Given the description of an element on the screen output the (x, y) to click on. 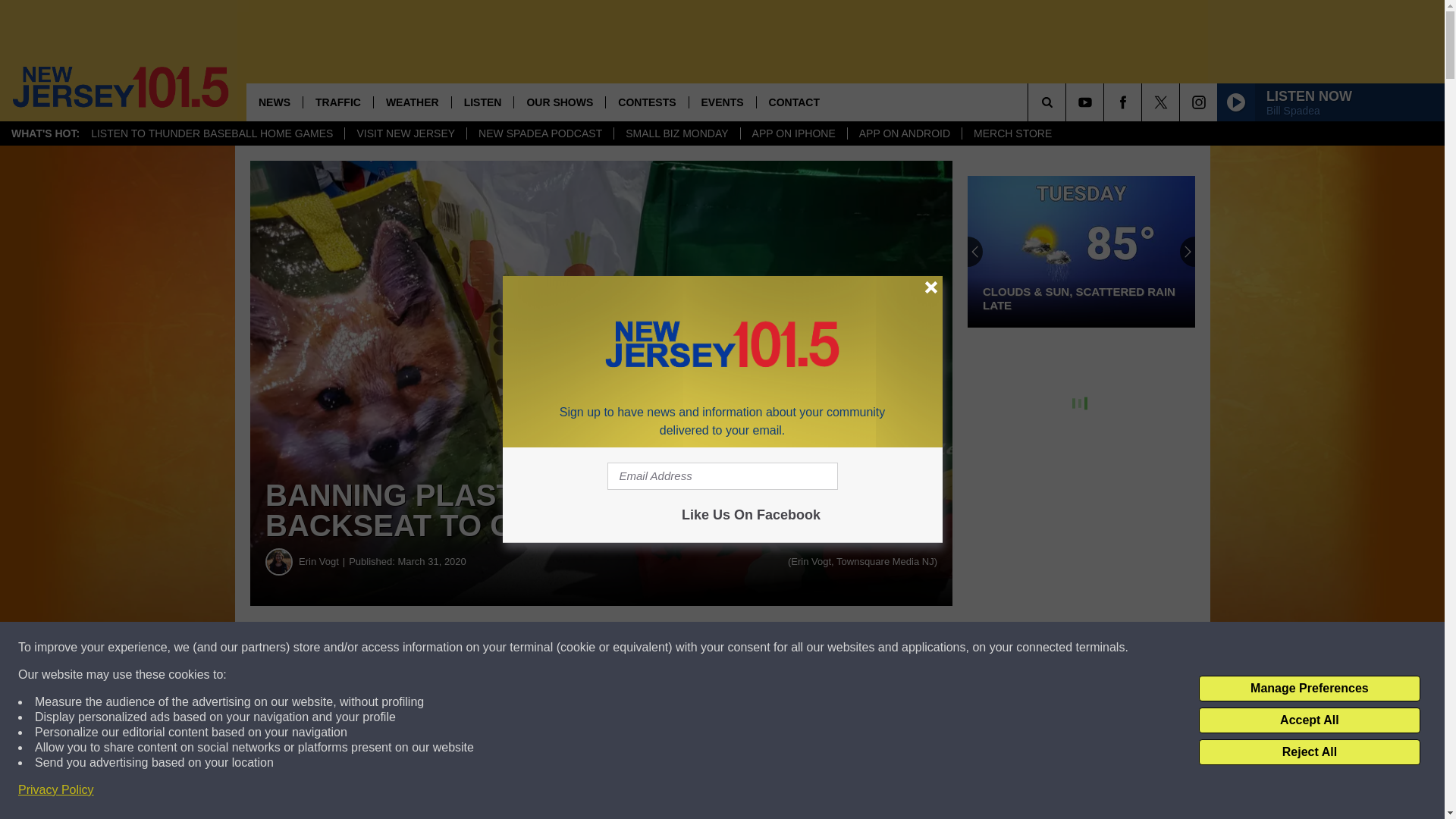
APP ON ANDROID (903, 133)
Share on Twitter (741, 647)
Manage Preferences (1309, 688)
TRAFFIC (337, 102)
VISIT NEW JERSEY (404, 133)
Accept All (1309, 720)
MERCH STORE (1011, 133)
WEATHER (411, 102)
Privacy Policy (55, 789)
Reject All (1309, 751)
NEWS (274, 102)
SMALL BIZ MONDAY (675, 133)
APP ON IPHONE (793, 133)
LISTEN (482, 102)
LISTEN TO THUNDER BASEBALL HOME GAMES (211, 133)
